Given the description of an element on the screen output the (x, y) to click on. 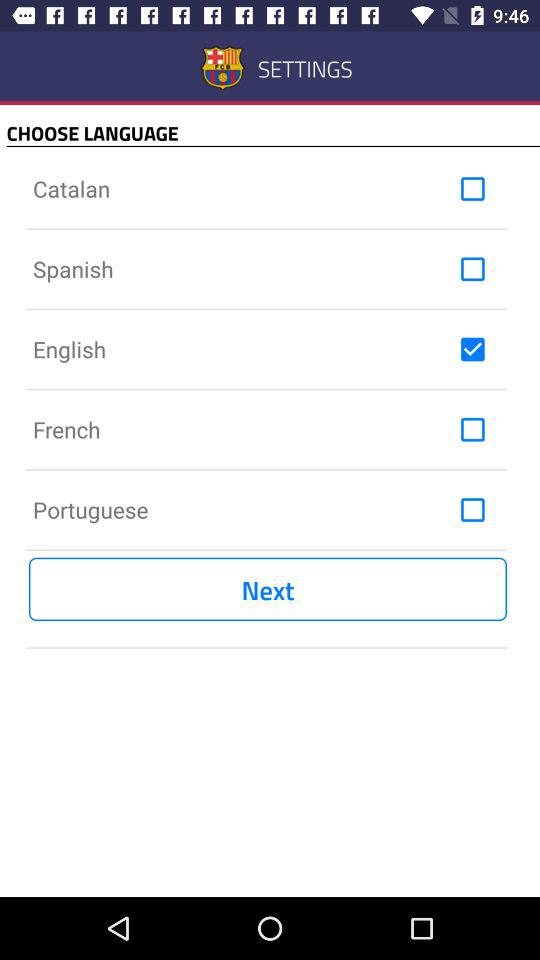
toggle portuguese (472, 510)
